Given the description of an element on the screen output the (x, y) to click on. 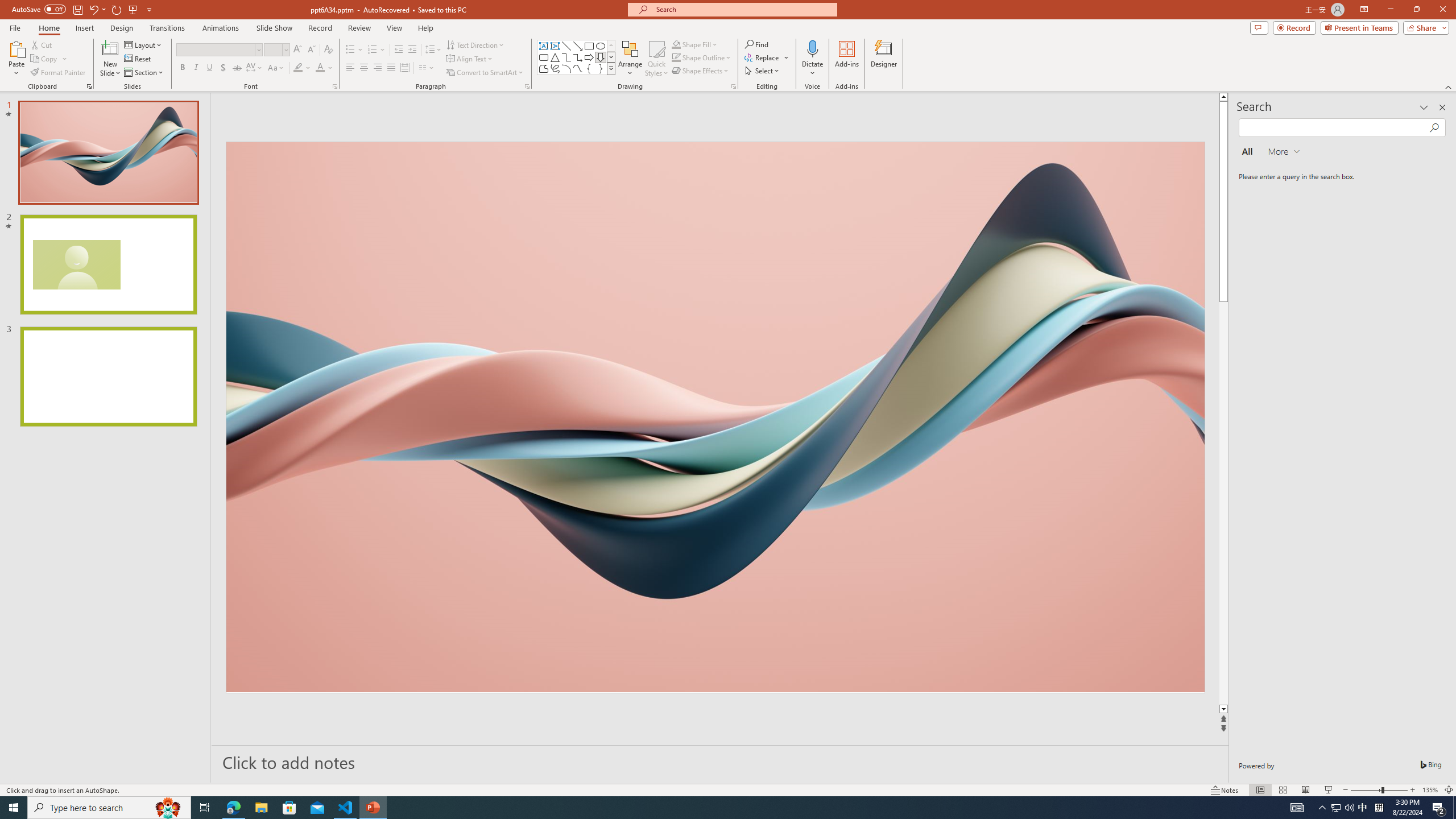
Wavy 3D art (714, 417)
